Given the description of an element on the screen output the (x, y) to click on. 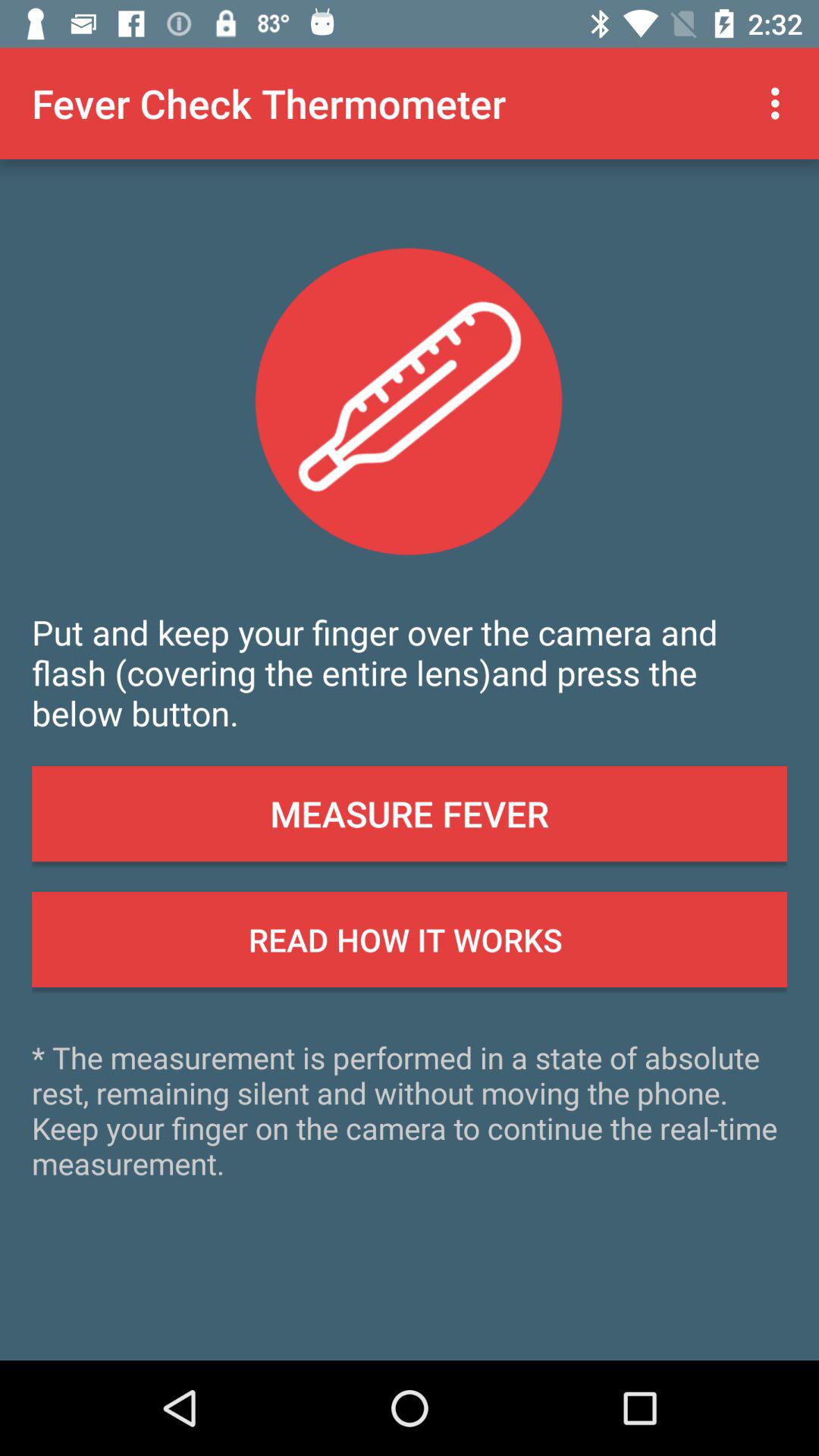
turn off the icon below the put and keep item (409, 813)
